Given the description of an element on the screen output the (x, y) to click on. 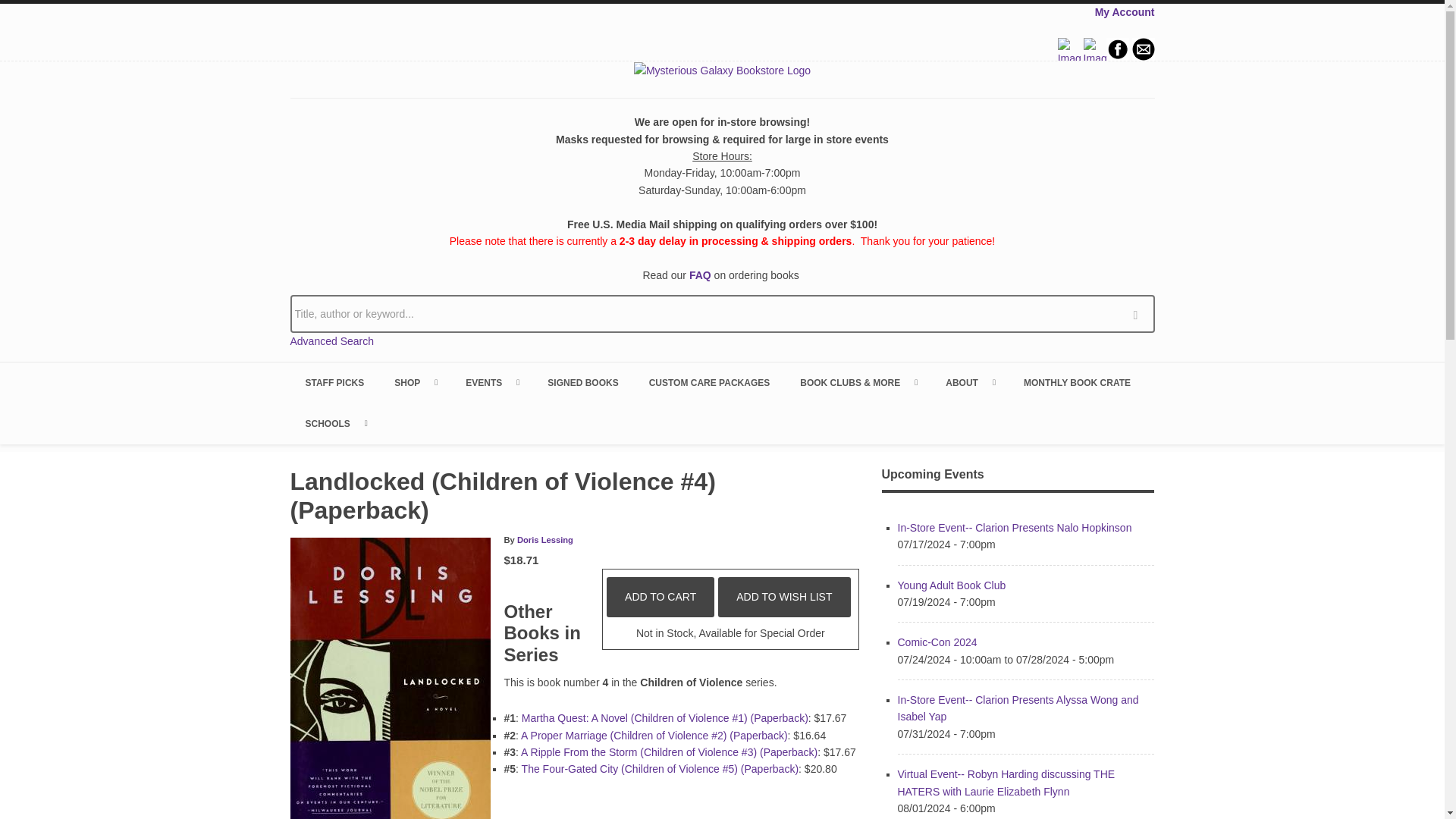
EVENTS (490, 382)
Home (721, 69)
Title, author or keyword... (721, 313)
FAQ (699, 275)
Add to Cart (660, 596)
Advanced Search (331, 340)
SHOP (413, 382)
STAFF PICKS (333, 382)
Add to Wish List (783, 596)
My Account (1124, 11)
